Given the description of an element on the screen output the (x, y) to click on. 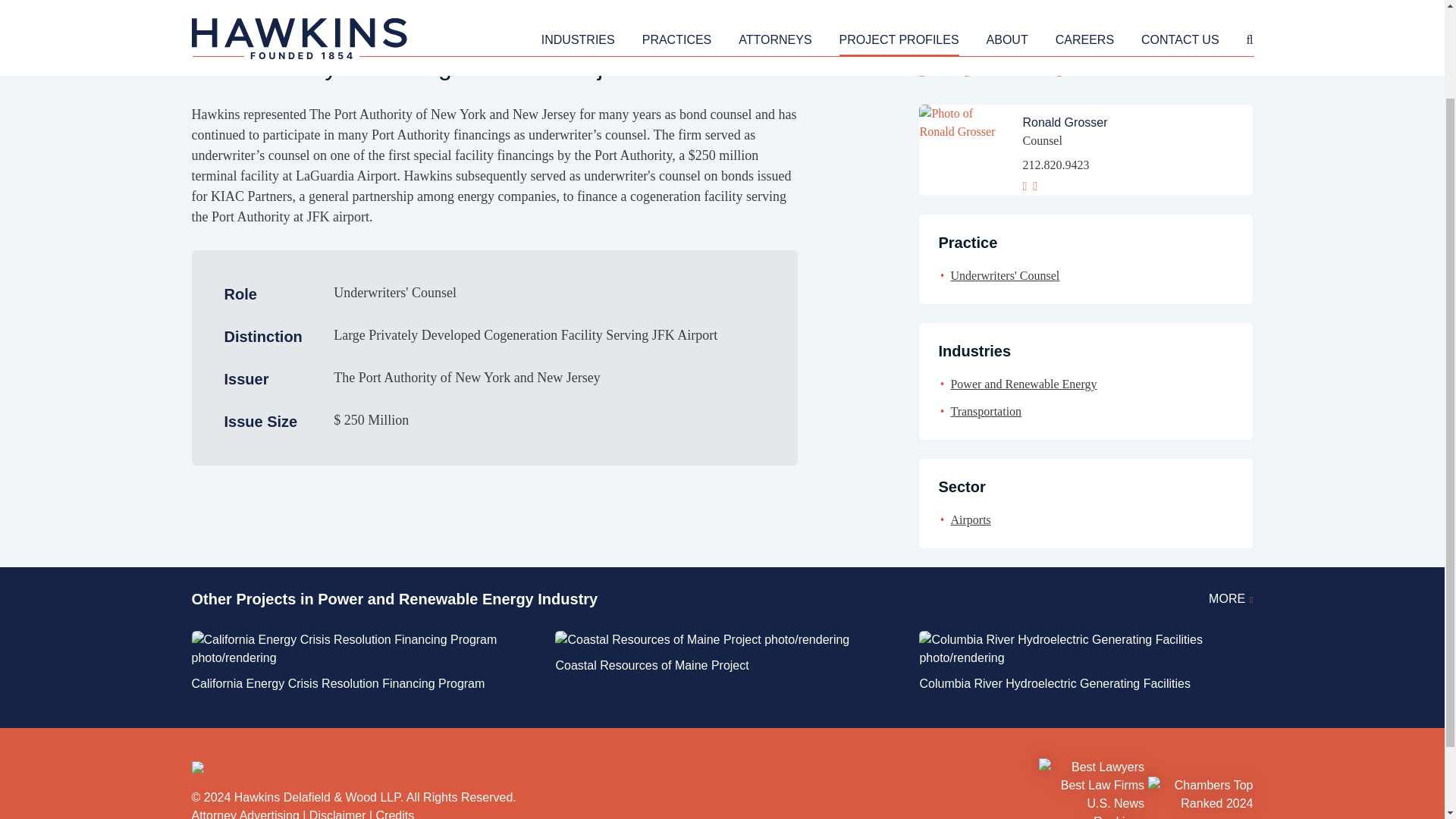
Share Options (1077, 70)
Print Page (935, 70)
Print (935, 70)
PDF (980, 70)
Email (1026, 70)
PDF Print (980, 70)
Share (1077, 70)
Email Page (1026, 70)
